Given the description of an element on the screen output the (x, y) to click on. 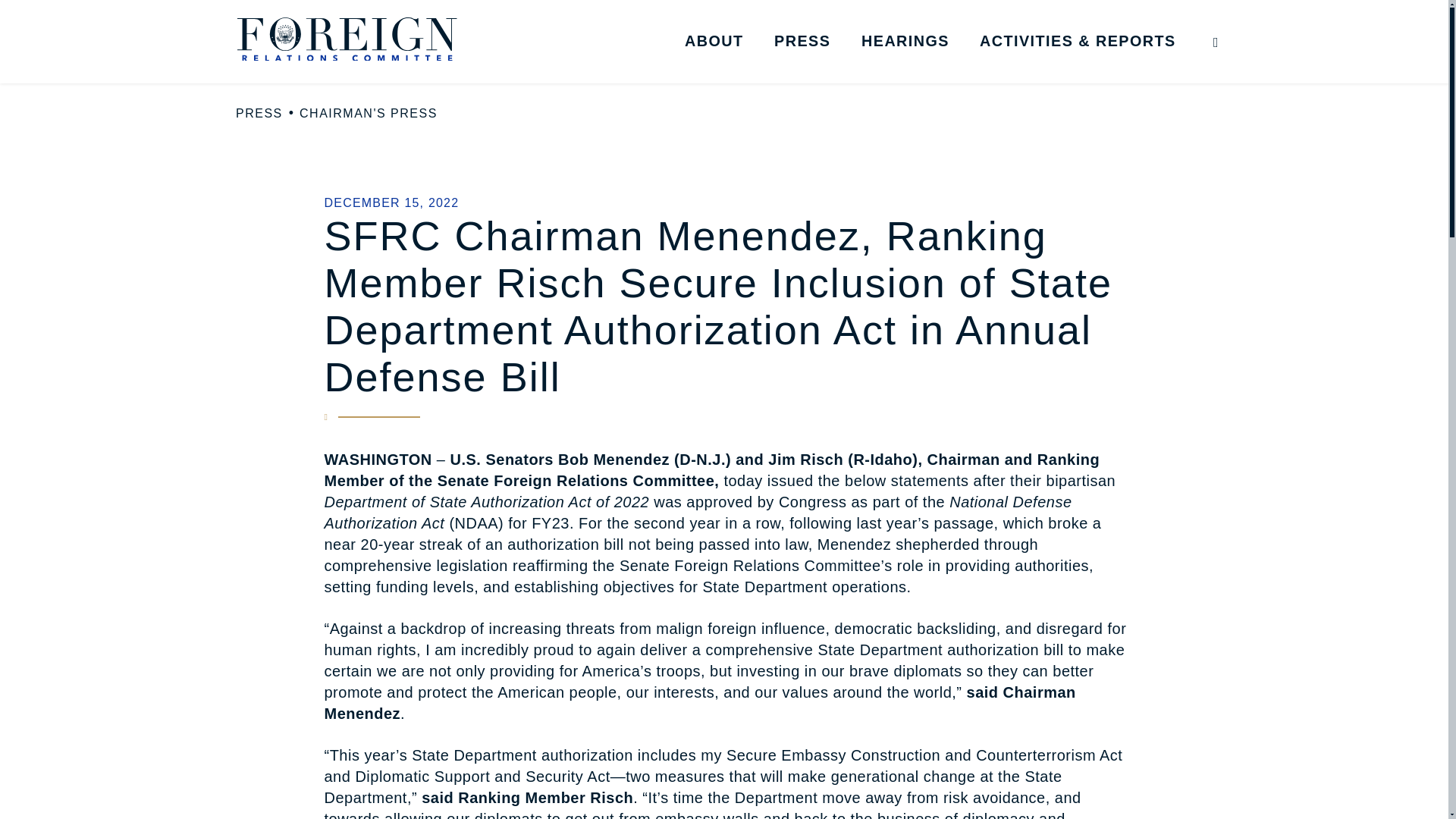
ABOUT (714, 41)
Chairman's Press (887, 68)
HEARINGS (905, 41)
Skip to content (26, 26)
Nominations (1093, 68)
PRESS (259, 113)
CHAIRMAN'S PRESS (369, 113)
Membership (798, 68)
PRESS (801, 41)
